Given the description of an element on the screen output the (x, y) to click on. 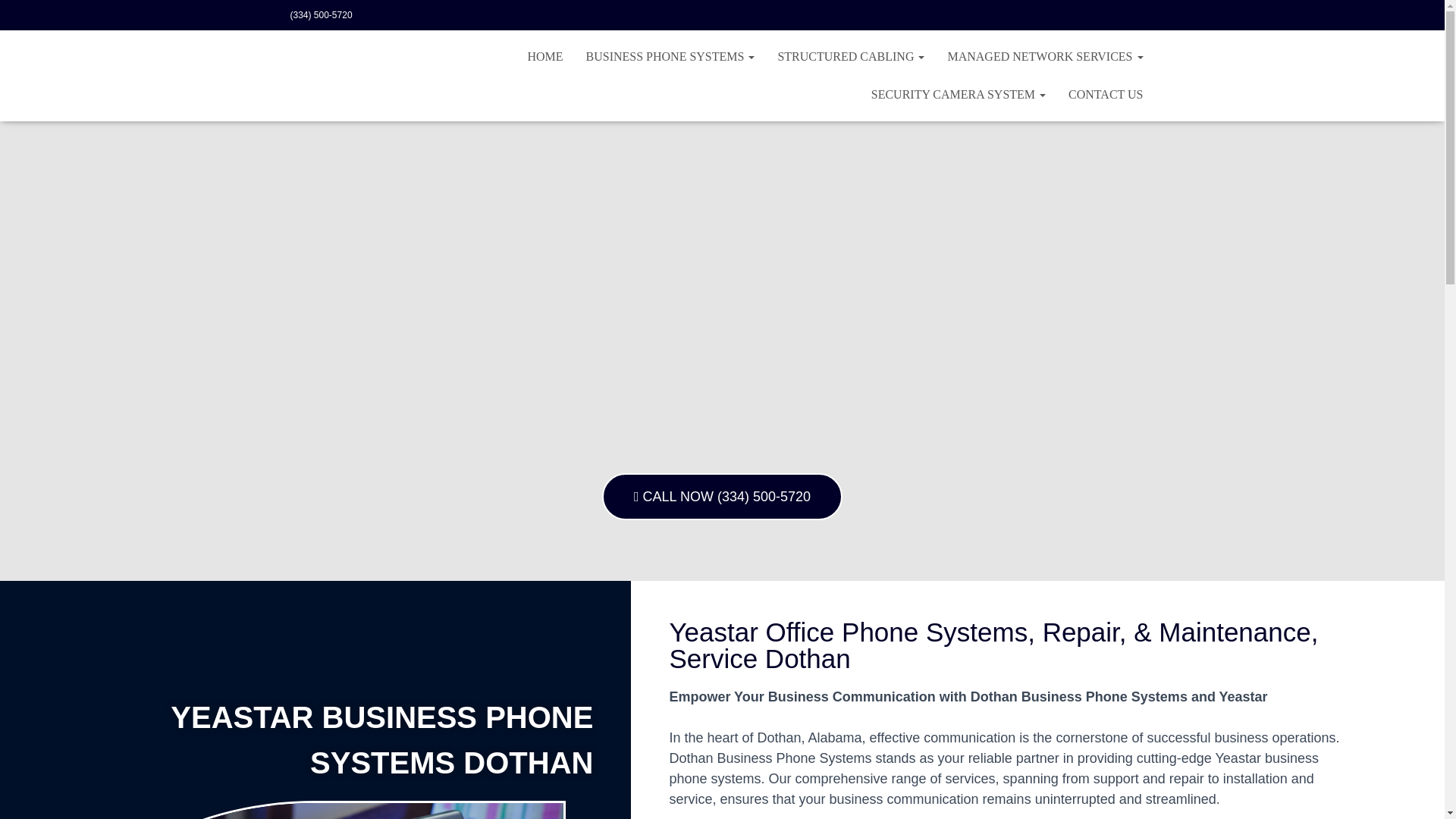
STRUCTURED CABLING (850, 56)
MANAGED NETWORK SERVICES (1045, 56)
CONTACT US (1105, 94)
SECURITY CAMERA SYSTEM (958, 94)
Home (544, 56)
HOME (544, 56)
BUSINESS PHONE SYSTEMS (671, 56)
BUSINESS PHONE SYSTEMS (671, 56)
